Given the description of an element on the screen output the (x, y) to click on. 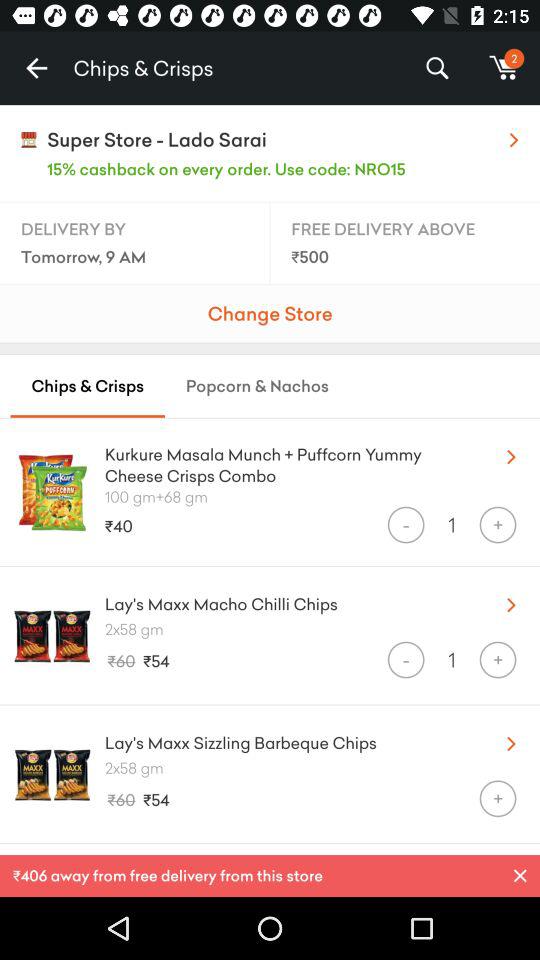
click icon below the 100 gm 68 (405, 524)
